Given the description of an element on the screen output the (x, y) to click on. 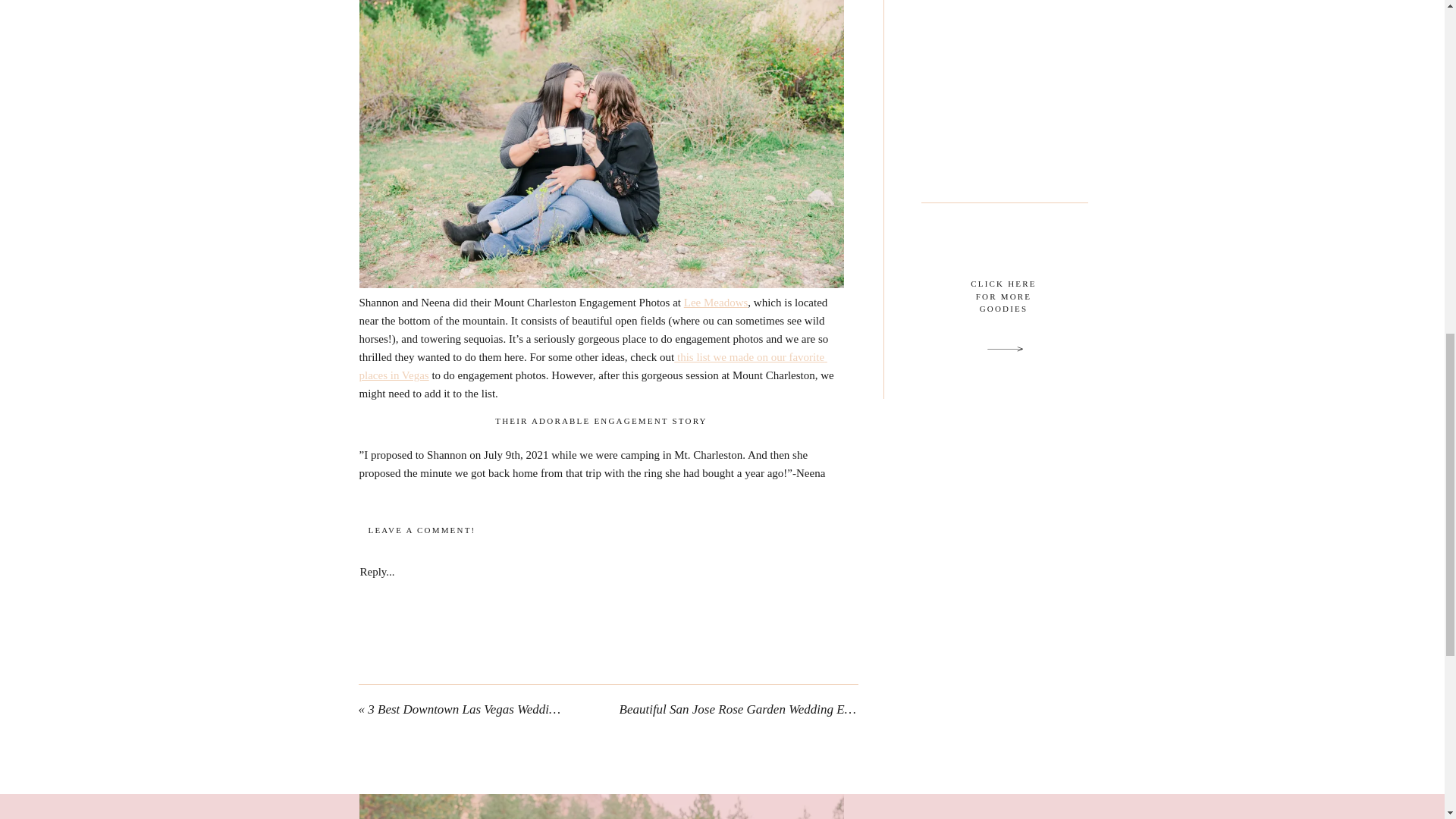
 this list we made on our favorite places in Vegas (593, 366)
CLICK HERE FOR MORE GOODIES (1002, 306)
Lee Meadows (716, 302)
